Given the description of an element on the screen output the (x, y) to click on. 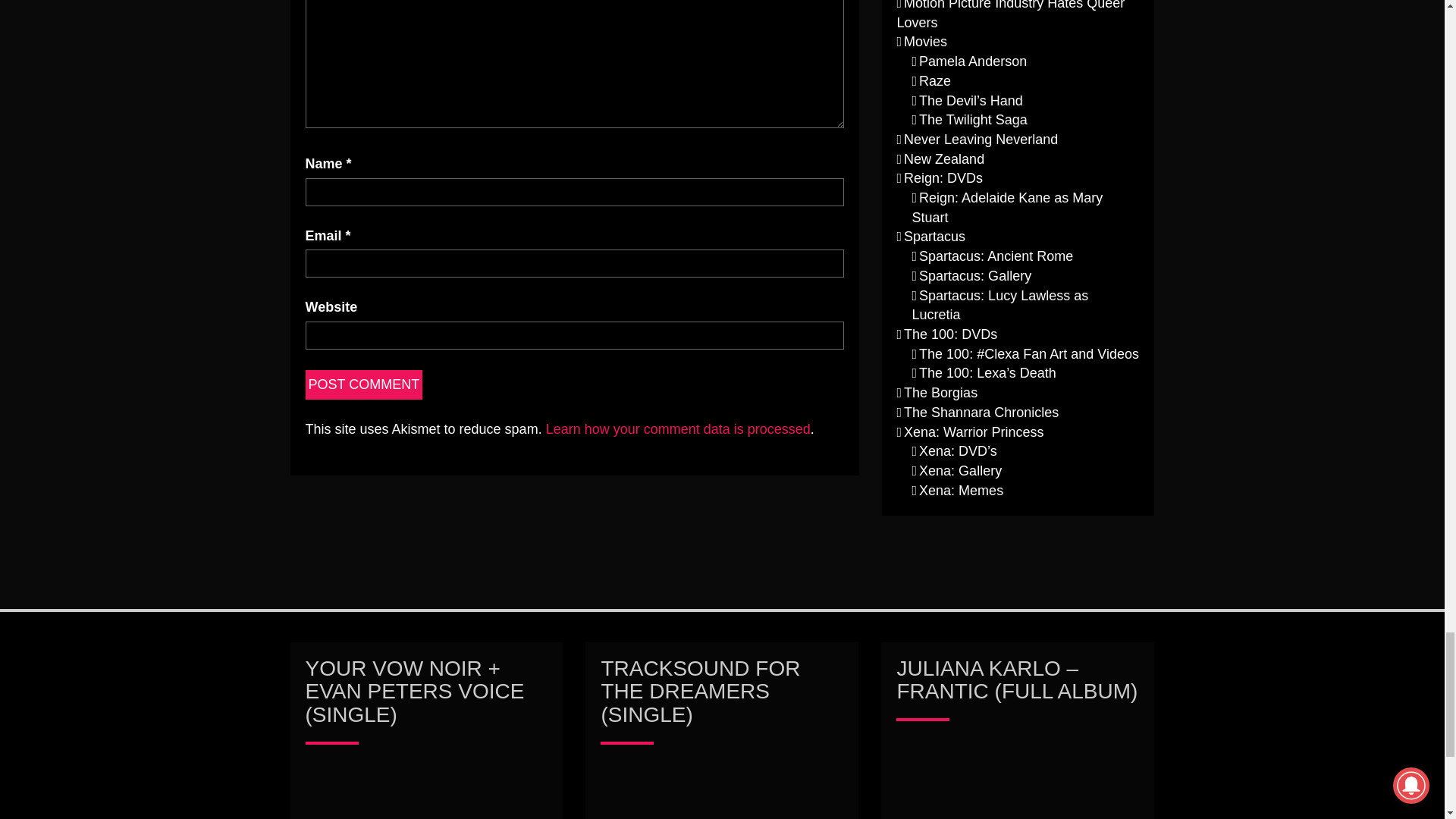
Post Comment (363, 384)
